Given the description of an element on the screen output the (x, y) to click on. 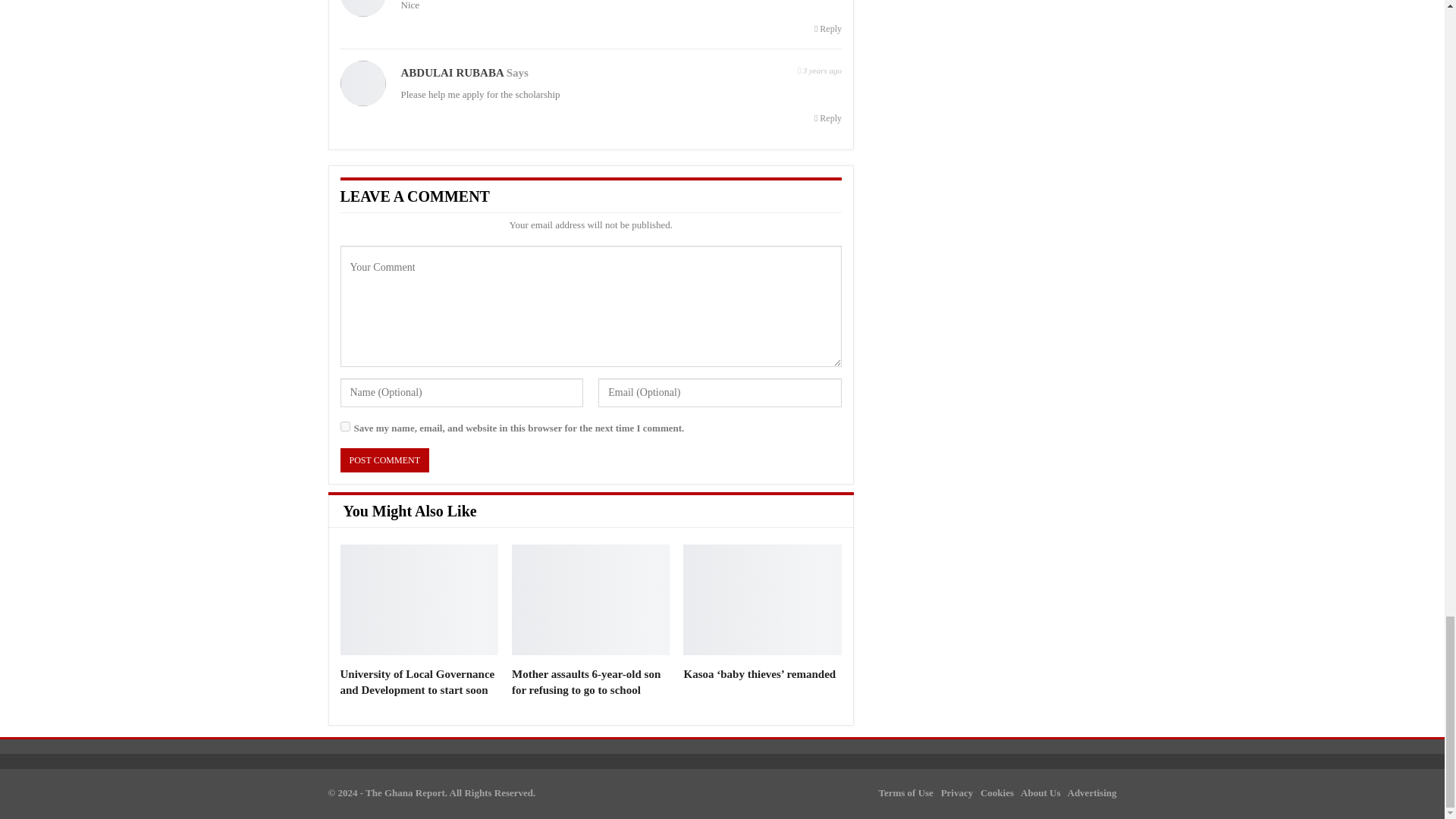
Post Comment (383, 460)
Friday, March 12, 2021, 12:22 pm (819, 68)
yes (344, 426)
